Given the description of an element on the screen output the (x, y) to click on. 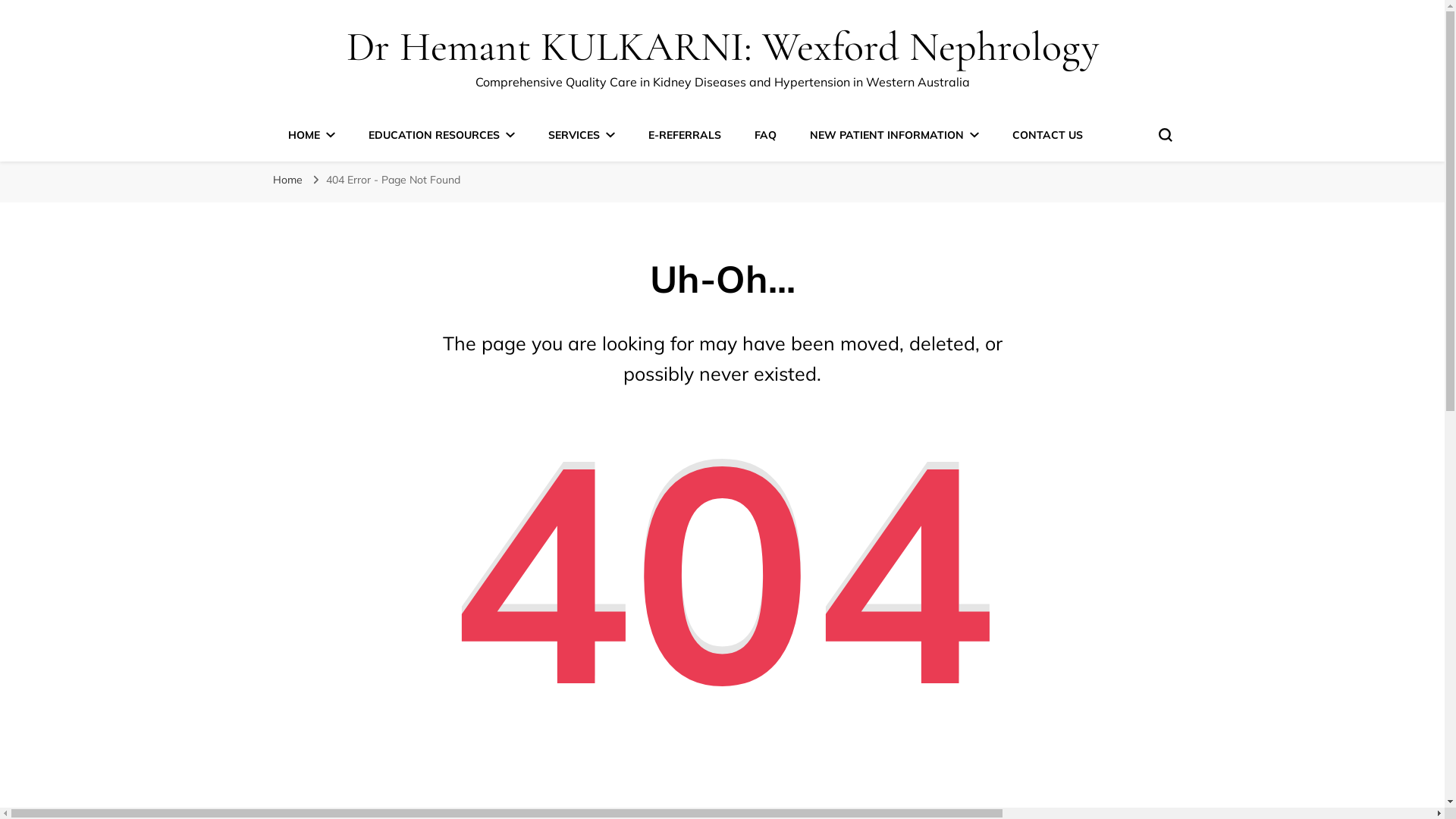
E-REFERRALS Element type: text (683, 134)
NEW PATIENT INFORMATION Element type: text (894, 134)
SERVICES Element type: text (580, 134)
HOME Element type: text (311, 134)
FAQ Element type: text (764, 134)
Dr Hemant KULKARNI: Wexford Nephrology Element type: text (721, 46)
Home Element type: text (287, 179)
EDUCATION RESOURCES Element type: text (441, 134)
CONTACT US Element type: text (1046, 134)
